Given the description of an element on the screen output the (x, y) to click on. 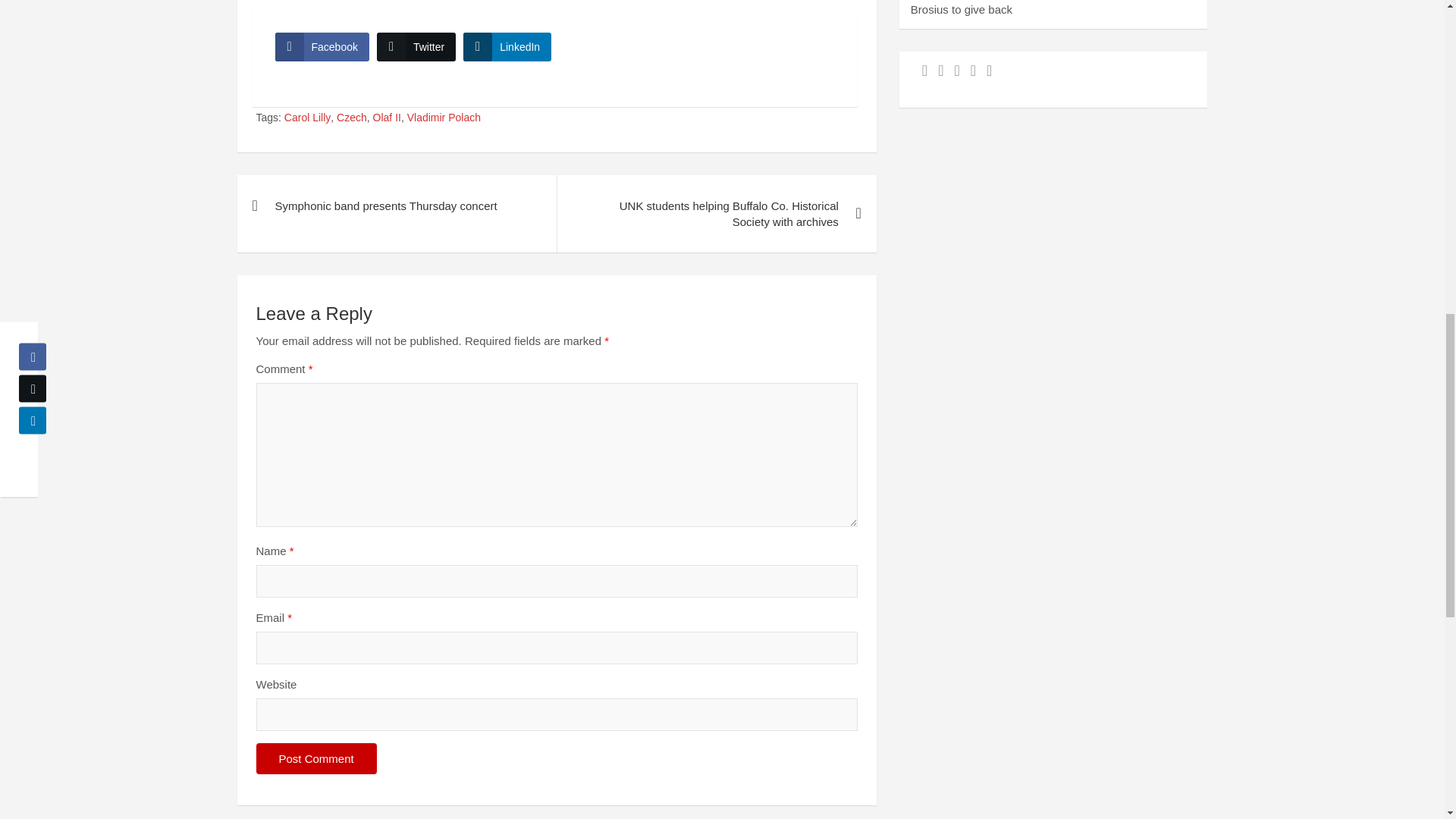
Symphonic band presents Thursday concert (395, 205)
Carol Lilly (306, 118)
Olaf II (386, 118)
Post Comment (316, 757)
Post Comment (316, 757)
LinkedIn (507, 46)
Vladimir Polach (443, 118)
Facebook (321, 46)
